Given the description of an element on the screen output the (x, y) to click on. 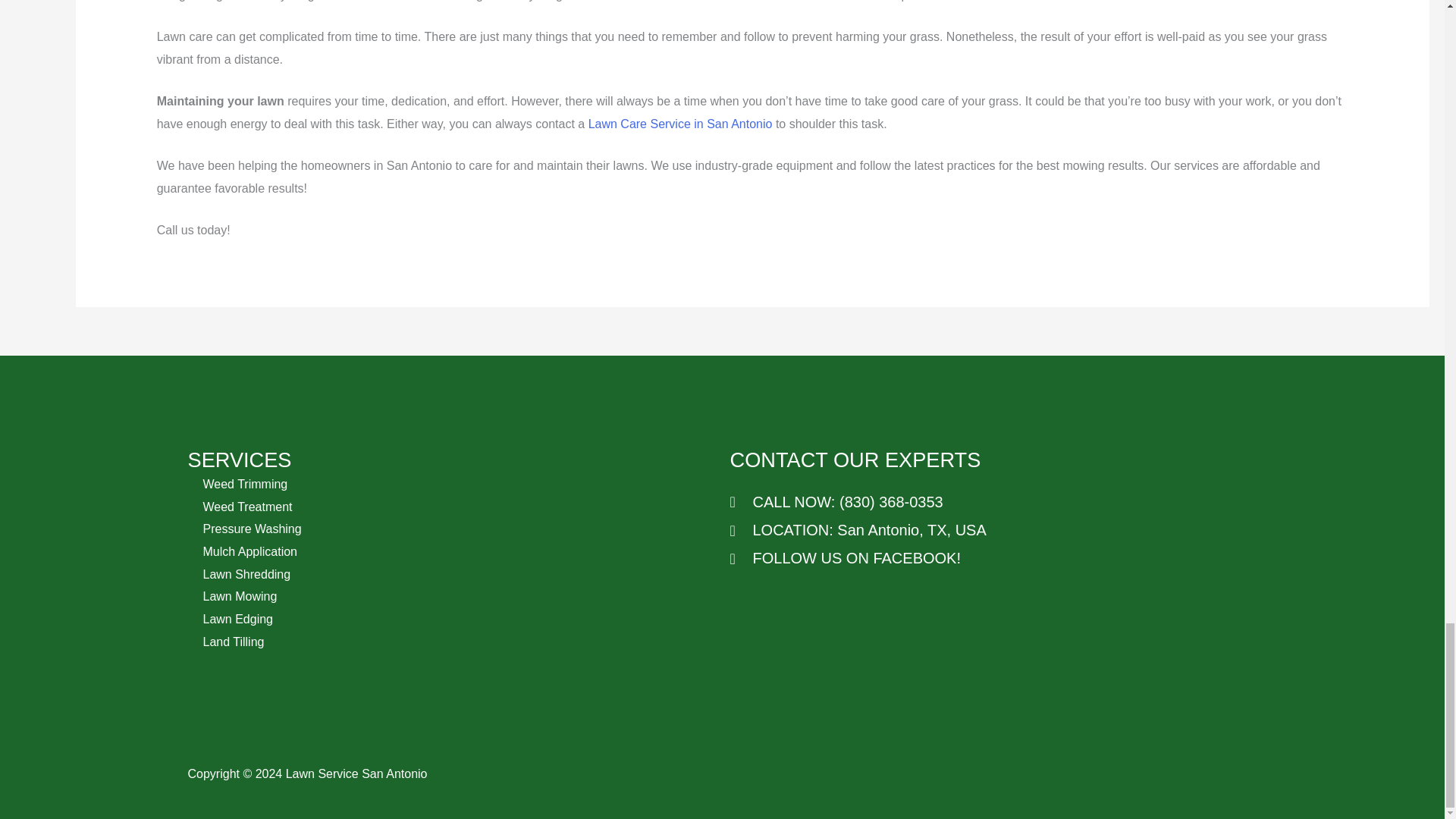
Land Tilling (233, 641)
Lawn Edging (238, 618)
Pressure Washing (252, 528)
Weed Trimming (245, 483)
Lawn Shredding (247, 574)
Lawn Care Service in San Antonio (680, 123)
Mulch Application (250, 551)
Lawn Mowing (240, 595)
Weed Treatment (247, 506)
